Given the description of an element on the screen output the (x, y) to click on. 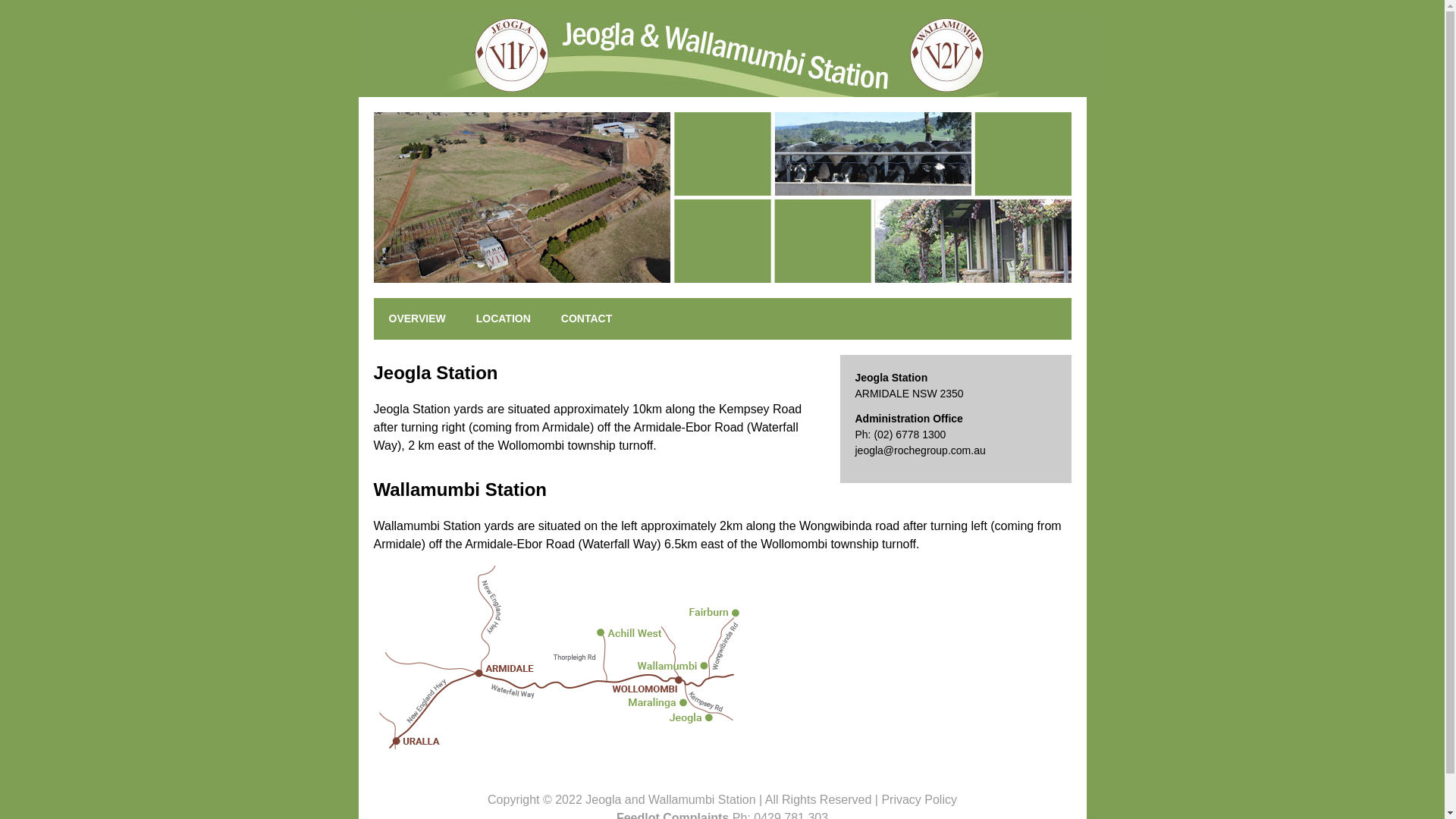
Privacy Policy Element type: text (919, 799)
CONTACT Element type: text (586, 318)
LOCATION Element type: text (503, 318)
OVERVIEW Element type: text (416, 318)
